Given the description of an element on the screen output the (x, y) to click on. 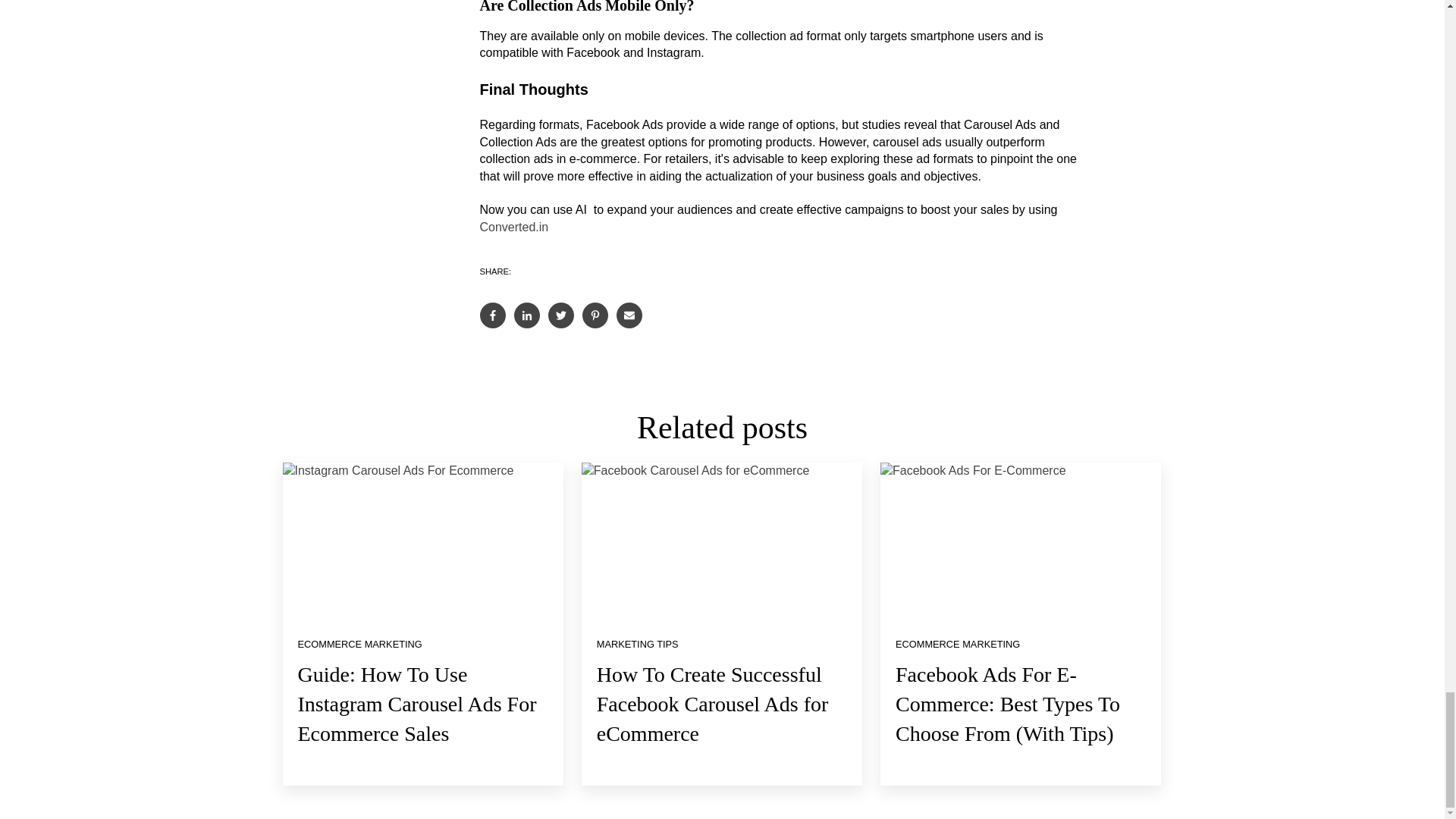
How To Create Successful Facebook Carousel Ads for eCommerce (712, 703)
Converted.in (513, 226)
MARKETING TIPS (637, 644)
ECOMMERCE MARKETING (957, 644)
Guide: How To Use Instagram Carousel Ads For Ecommerce Sales (416, 703)
ECOMMERCE MARKETING (359, 644)
